Given the description of an element on the screen output the (x, y) to click on. 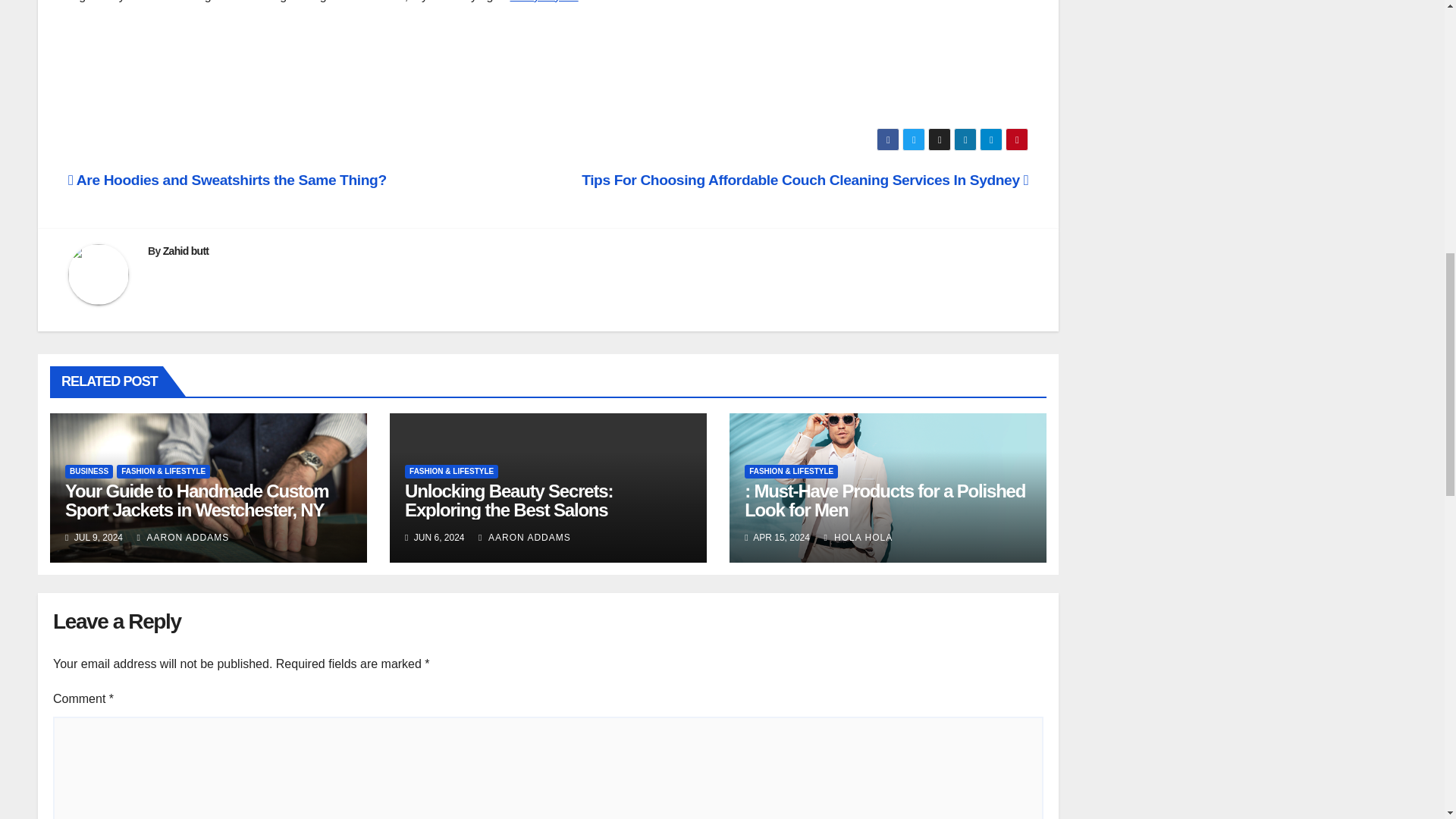
Zahid butt (186, 250)
BUSINESS (89, 471)
Are Hoodies and Sweatshirts the Same Thing? (227, 179)
AARON ADDAMS (182, 537)
